Given the description of an element on the screen output the (x, y) to click on. 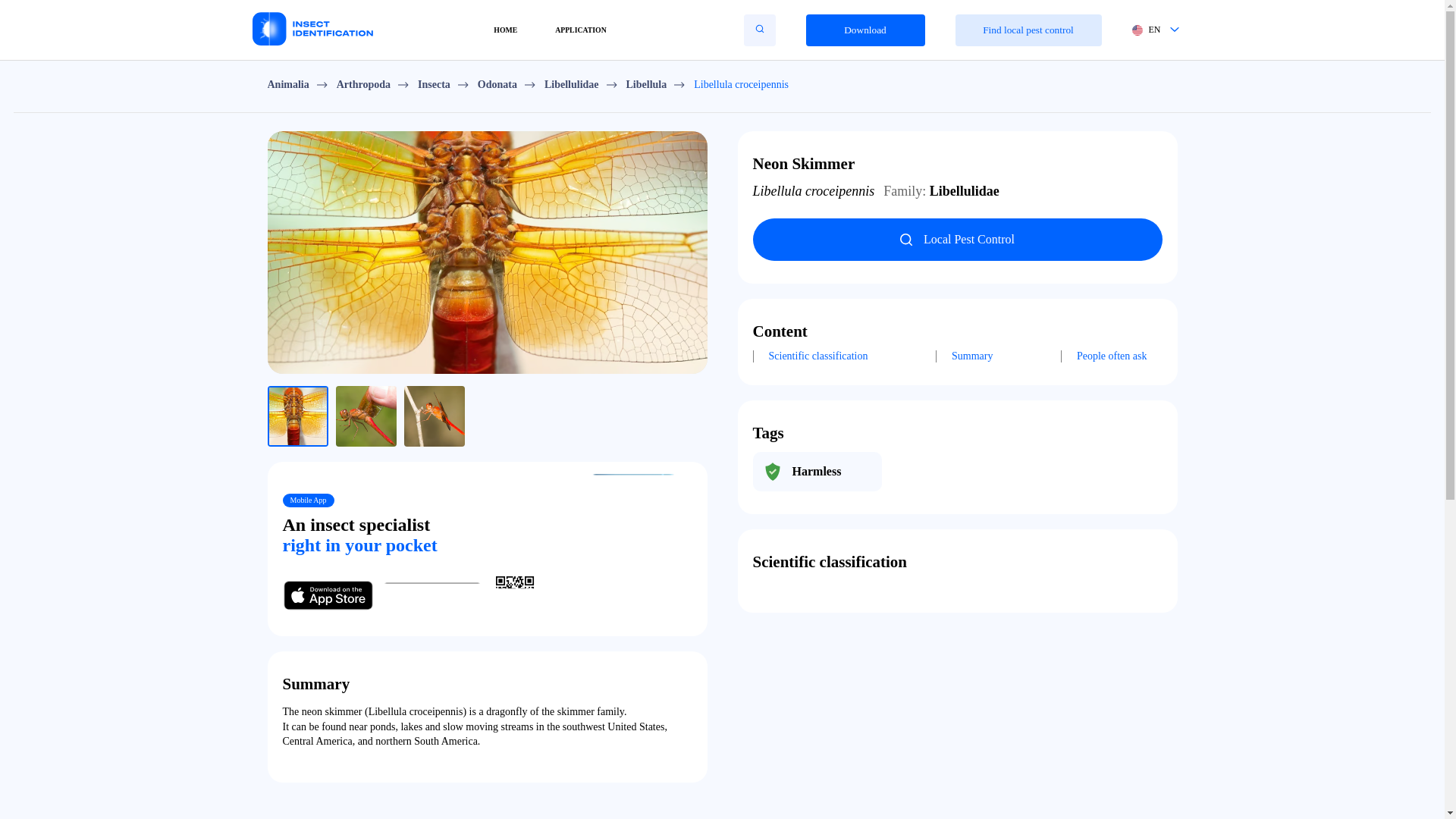
DE (1145, 120)
Download (864, 29)
ES (1145, 90)
Find local pest control (1028, 29)
People often ask (1111, 356)
HOME (504, 29)
DE (686, 497)
ES (686, 436)
Terms of Use (721, 209)
Summary (971, 356)
Application (722, 154)
Local Pest Control (956, 230)
harmless (816, 471)
APPLICATION (580, 29)
Scientific classification (817, 356)
